Given the description of an element on the screen output the (x, y) to click on. 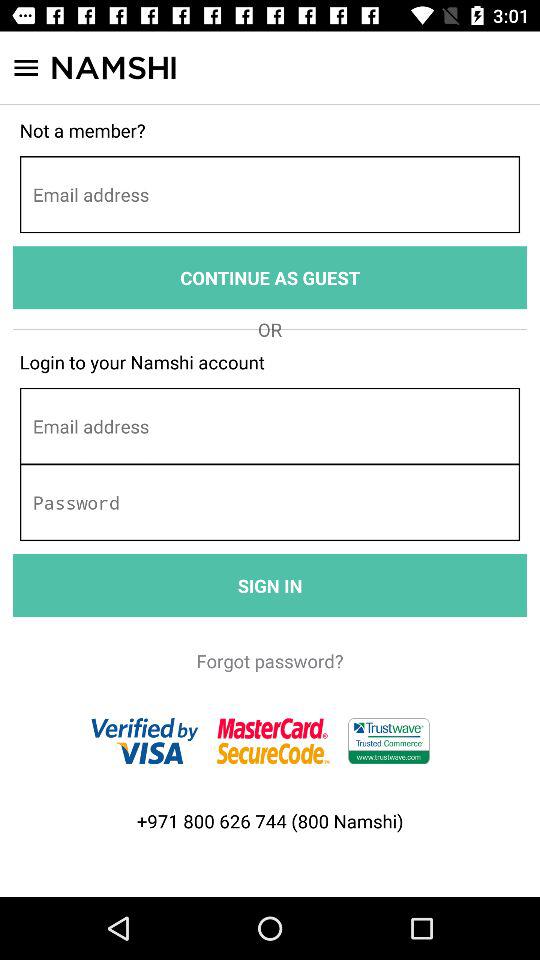
swipe to forgot password? (269, 660)
